Given the description of an element on the screen output the (x, y) to click on. 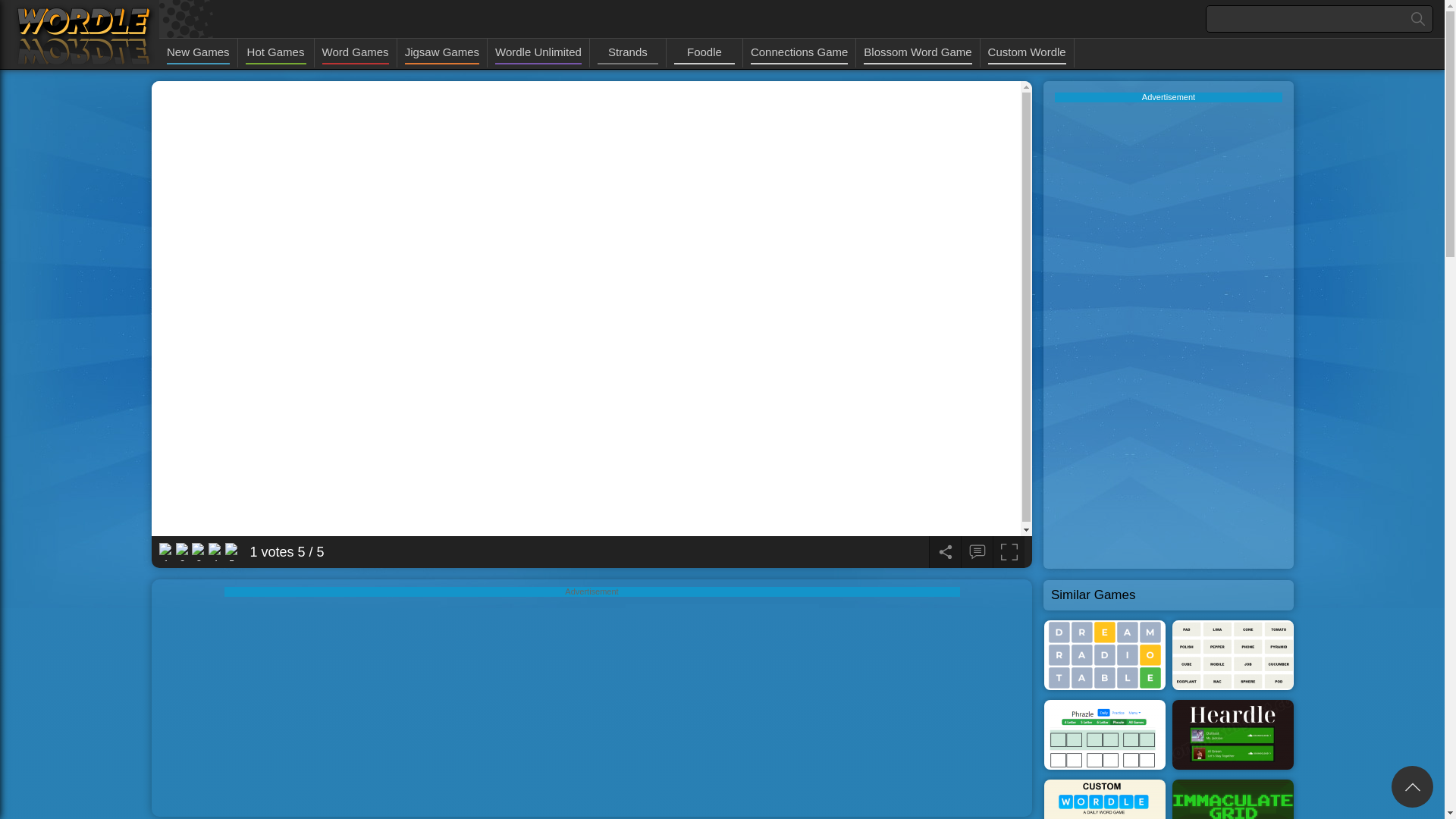
Connections Game (799, 52)
Wordle Unlimited (537, 52)
Foodle (704, 52)
Wordle Website (83, 35)
Word Games (354, 52)
Custom Wordle (1026, 52)
Strands (627, 52)
New Games (198, 52)
Hot Games (275, 52)
Blossom Word Game (917, 52)
Jigsaw Games (441, 52)
